Given the description of an element on the screen output the (x, y) to click on. 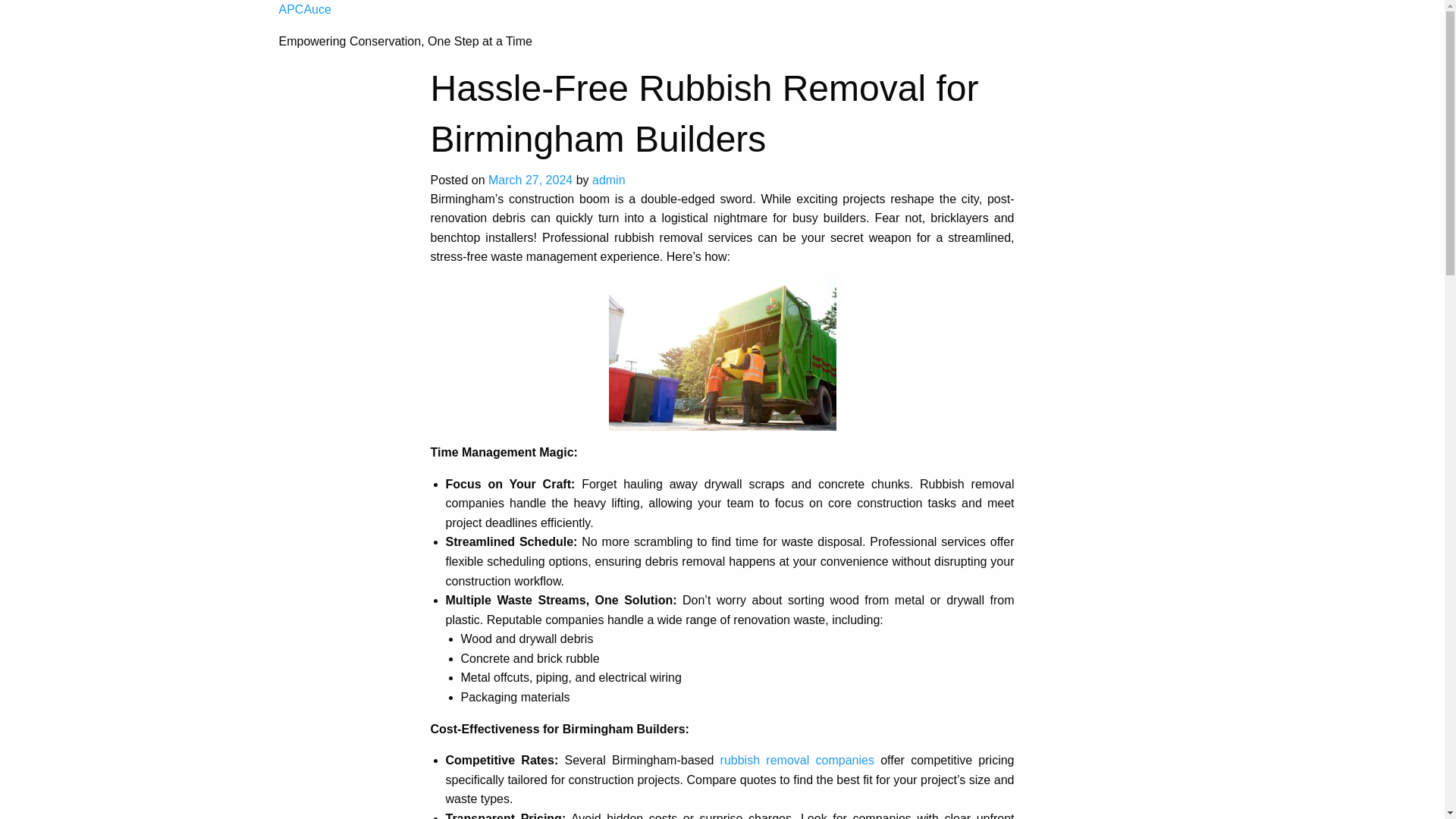
APCAuce (305, 9)
rubbish removal companies (797, 759)
March 27, 2024 (529, 179)
admin (609, 179)
